Given the description of an element on the screen output the (x, y) to click on. 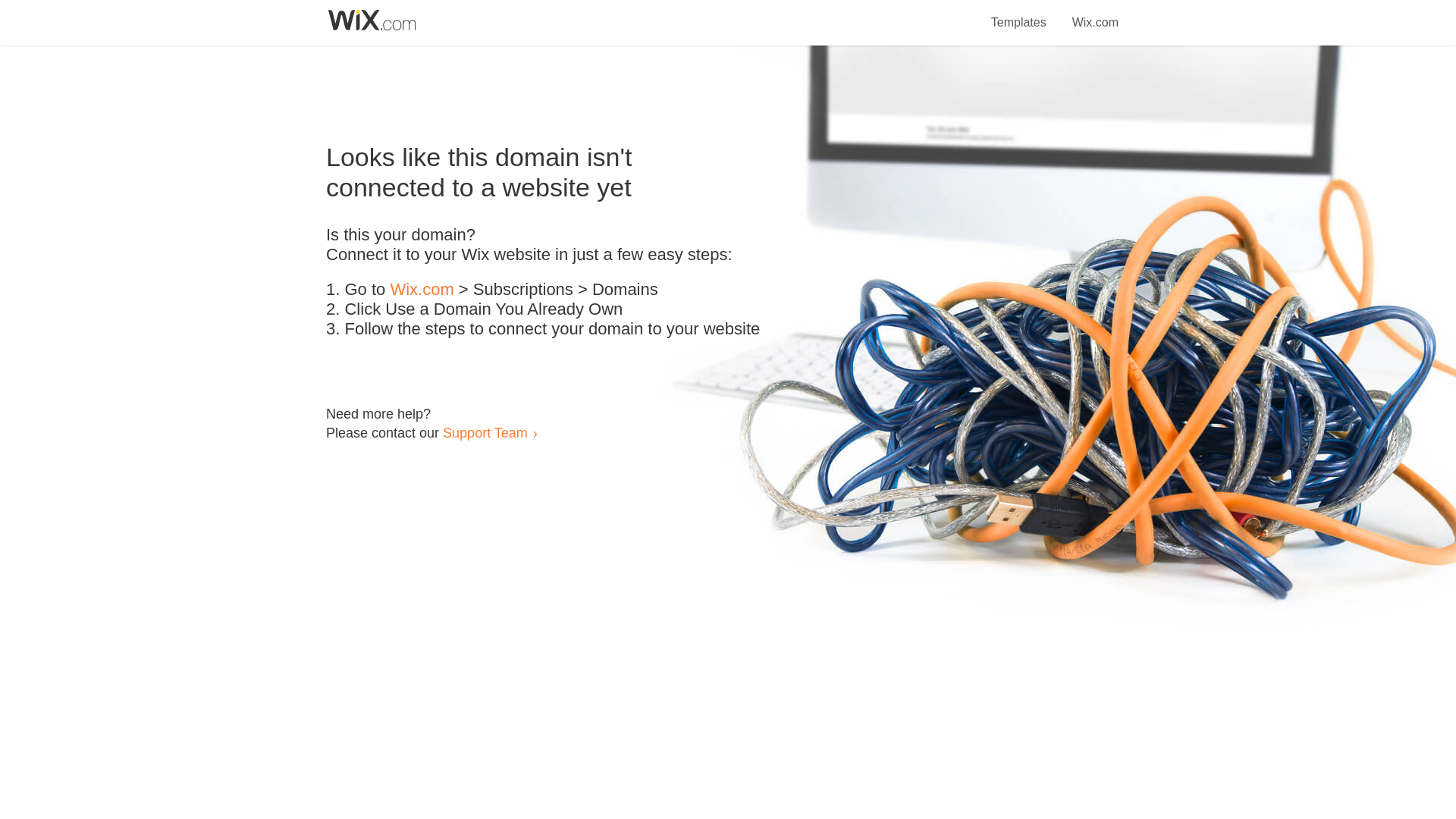
Wix.com (1095, 14)
Support Team (484, 432)
Templates (1018, 14)
Wix.com (421, 289)
